Given the description of an element on the screen output the (x, y) to click on. 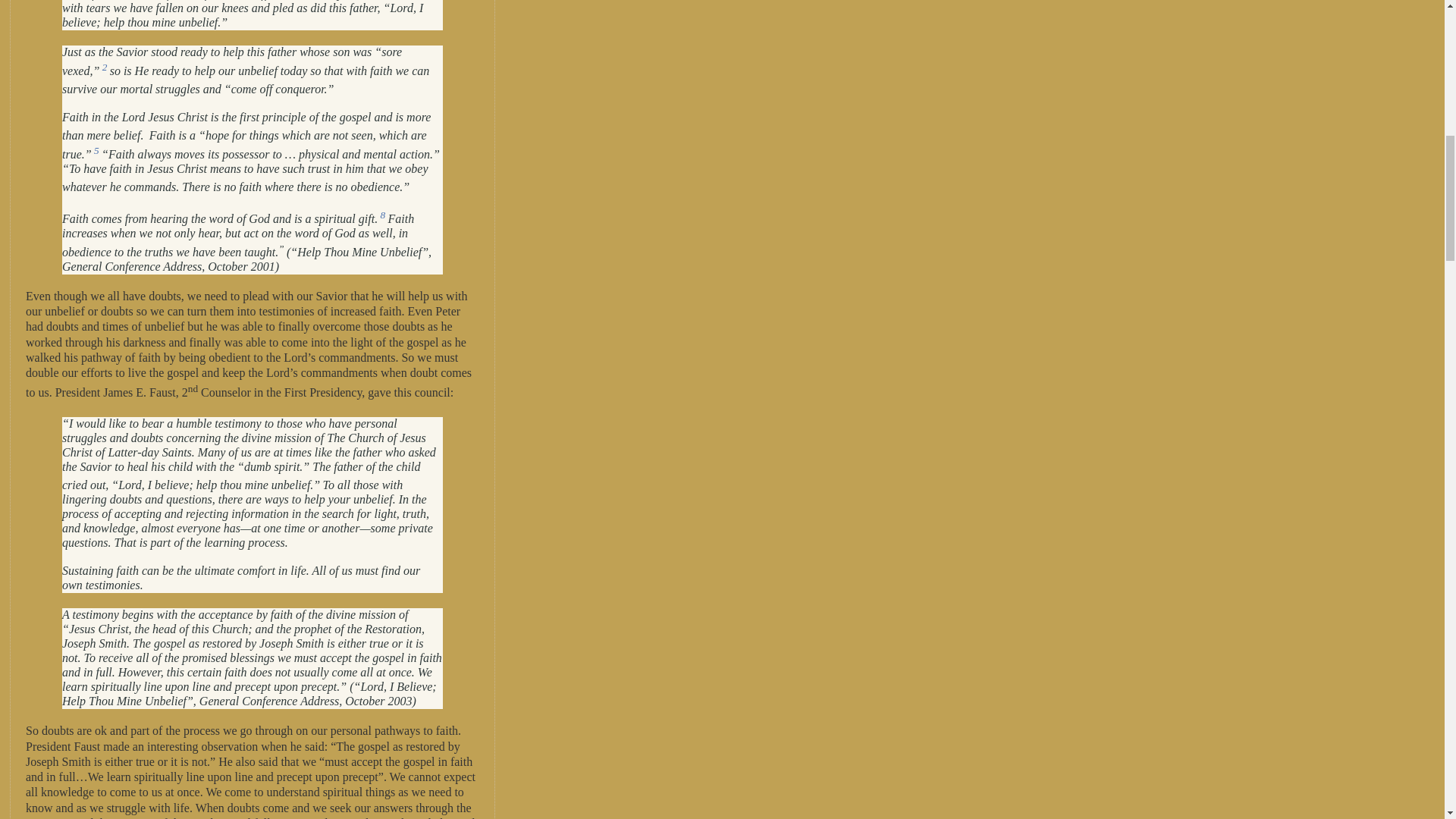
Jesus Christ (244, 444)
Joseph Smith (94, 643)
Jesus Christ (178, 116)
